Given the description of an element on the screen output the (x, y) to click on. 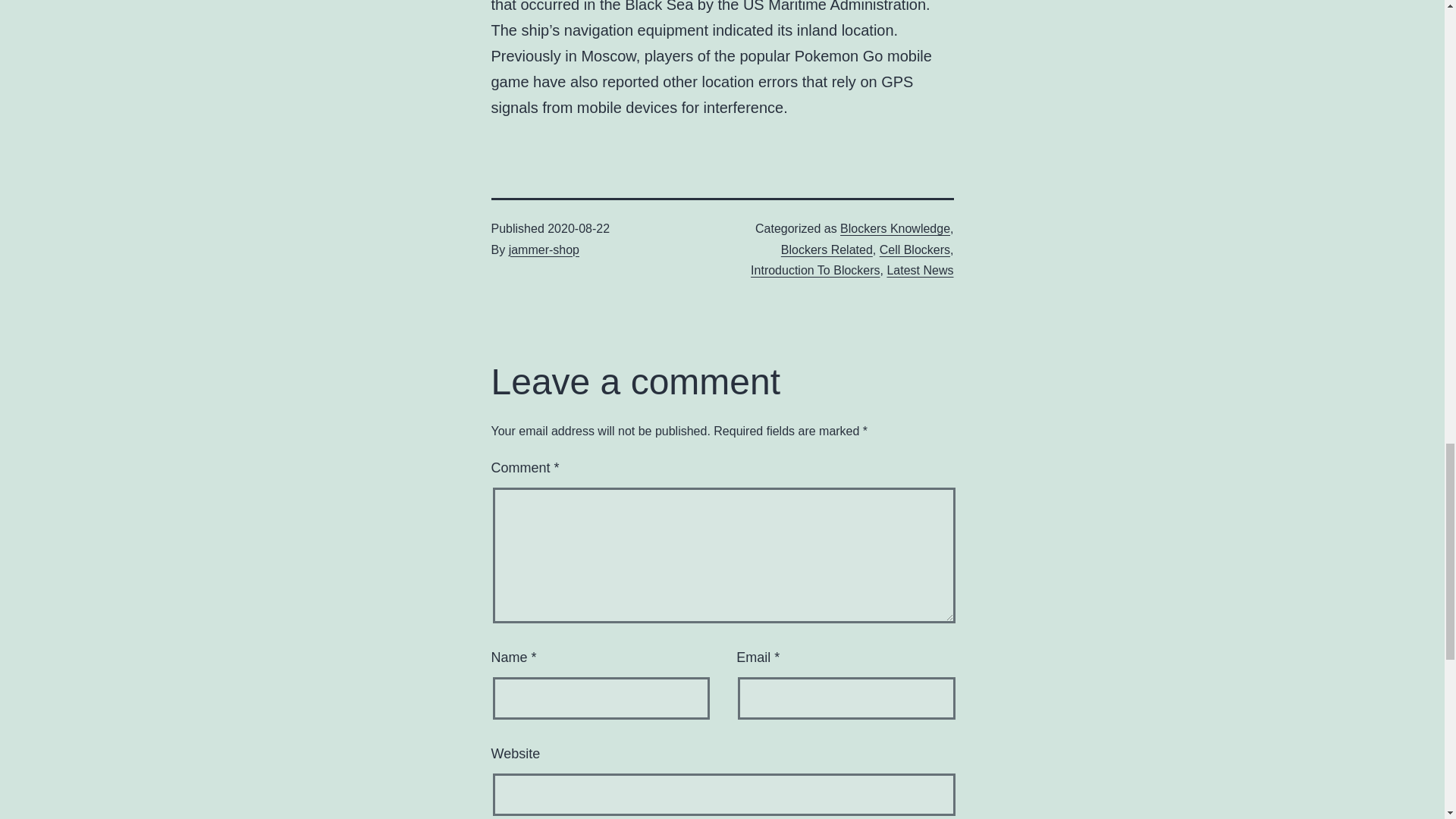
Cell Blockers (914, 249)
Introduction To Blockers (815, 269)
jammer-shop (543, 249)
Blockers Related (826, 249)
Latest News (919, 269)
Blockers Knowledge (895, 228)
